Given the description of an element on the screen output the (x, y) to click on. 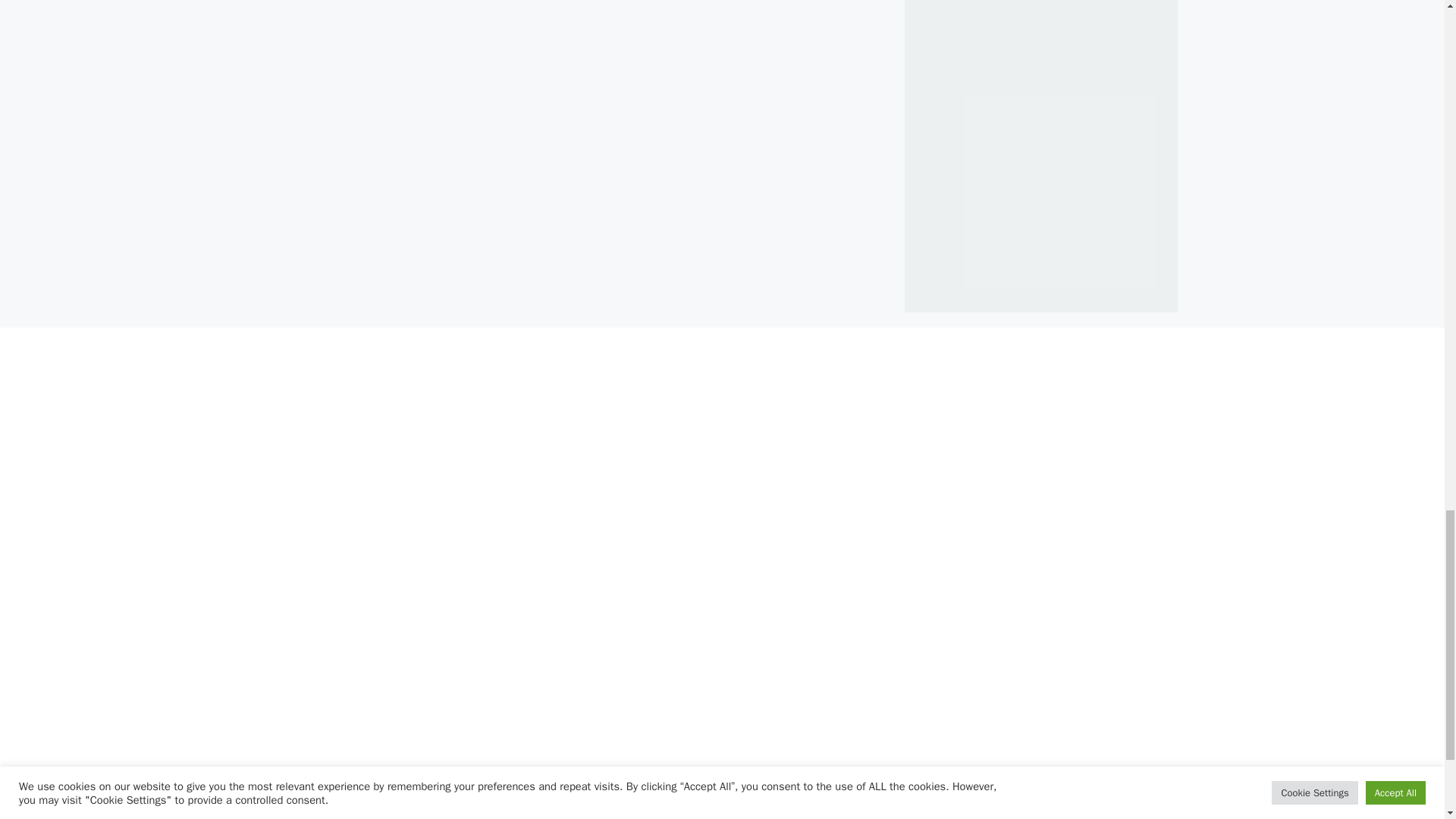
Advertisement (1071, 221)
Advertisement (463, 723)
